Given the description of an element on the screen output the (x, y) to click on. 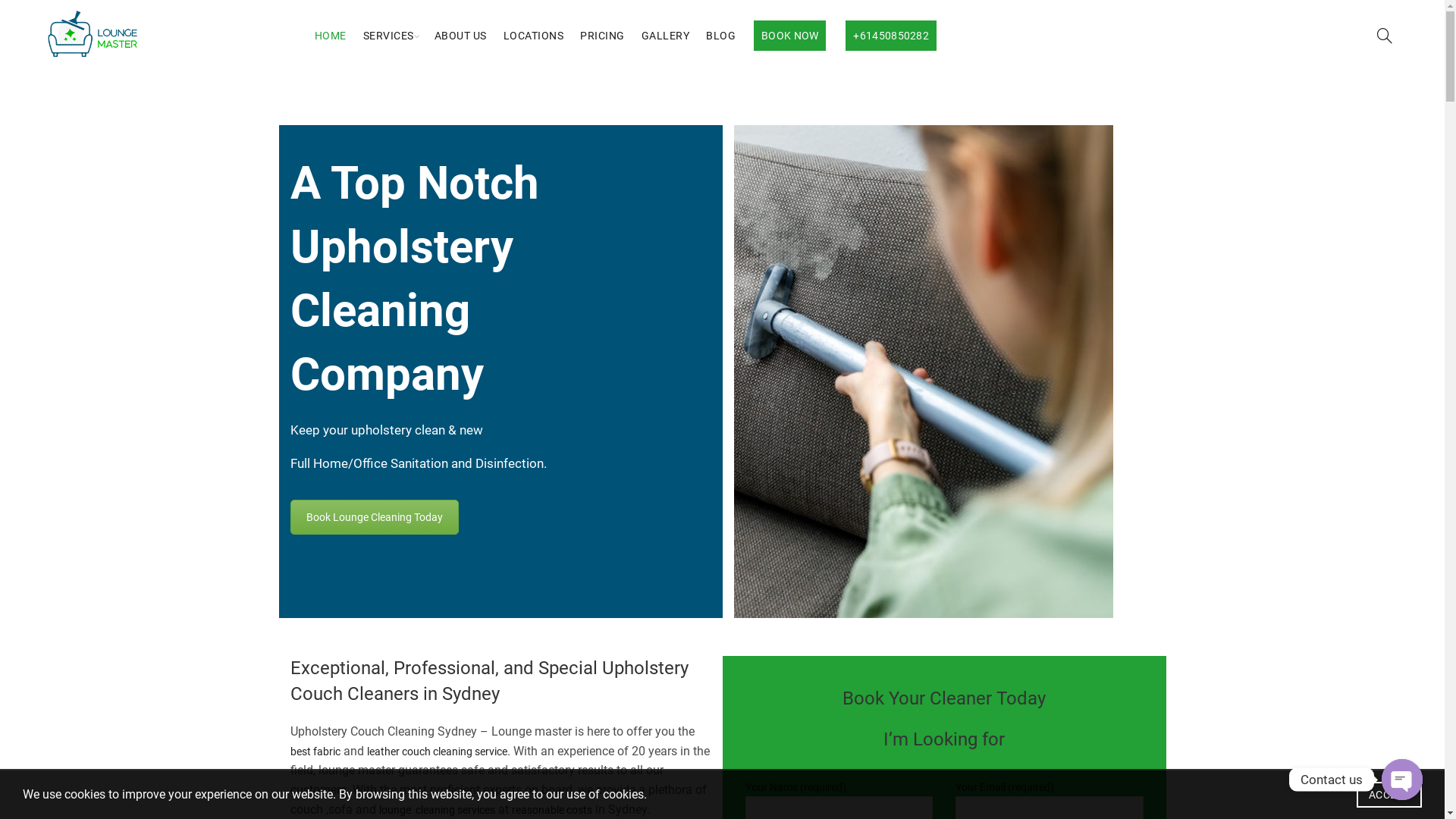
PRICING Element type: text (602, 36)
BOOK NOW Element type: text (789, 35)
LOCATIONS Element type: text (533, 36)
BLOG Element type: text (720, 36)
+61450850282 Element type: text (890, 35)
reasonable costs Element type: text (551, 809)
Search Element type: text (1363, 77)
HOME Element type: text (330, 36)
lounge  cleaning services Element type: text (437, 809)
GALLERY Element type: text (665, 36)
ABOUT US Element type: text (460, 36)
ACCEPT Element type: text (1388, 794)
best fabric Element type: text (314, 751)
leather couch cleaning service Element type: text (437, 751)
Book Lounge Cleaning Today Element type: text (373, 516)
SERVICES Element type: text (388, 36)
